Given the description of an element on the screen output the (x, y) to click on. 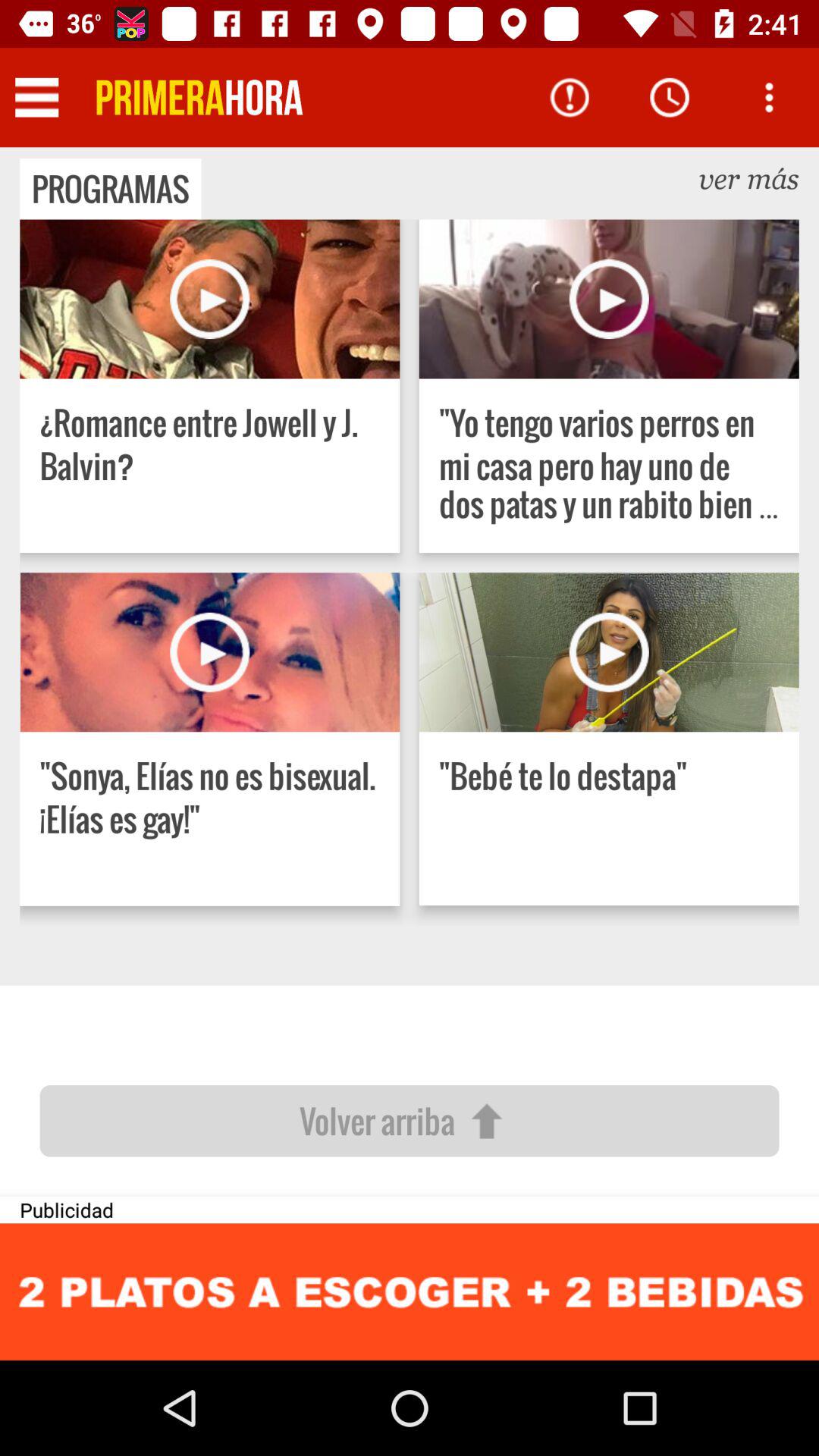
show settings (36, 97)
